Given the description of an element on the screen output the (x, y) to click on. 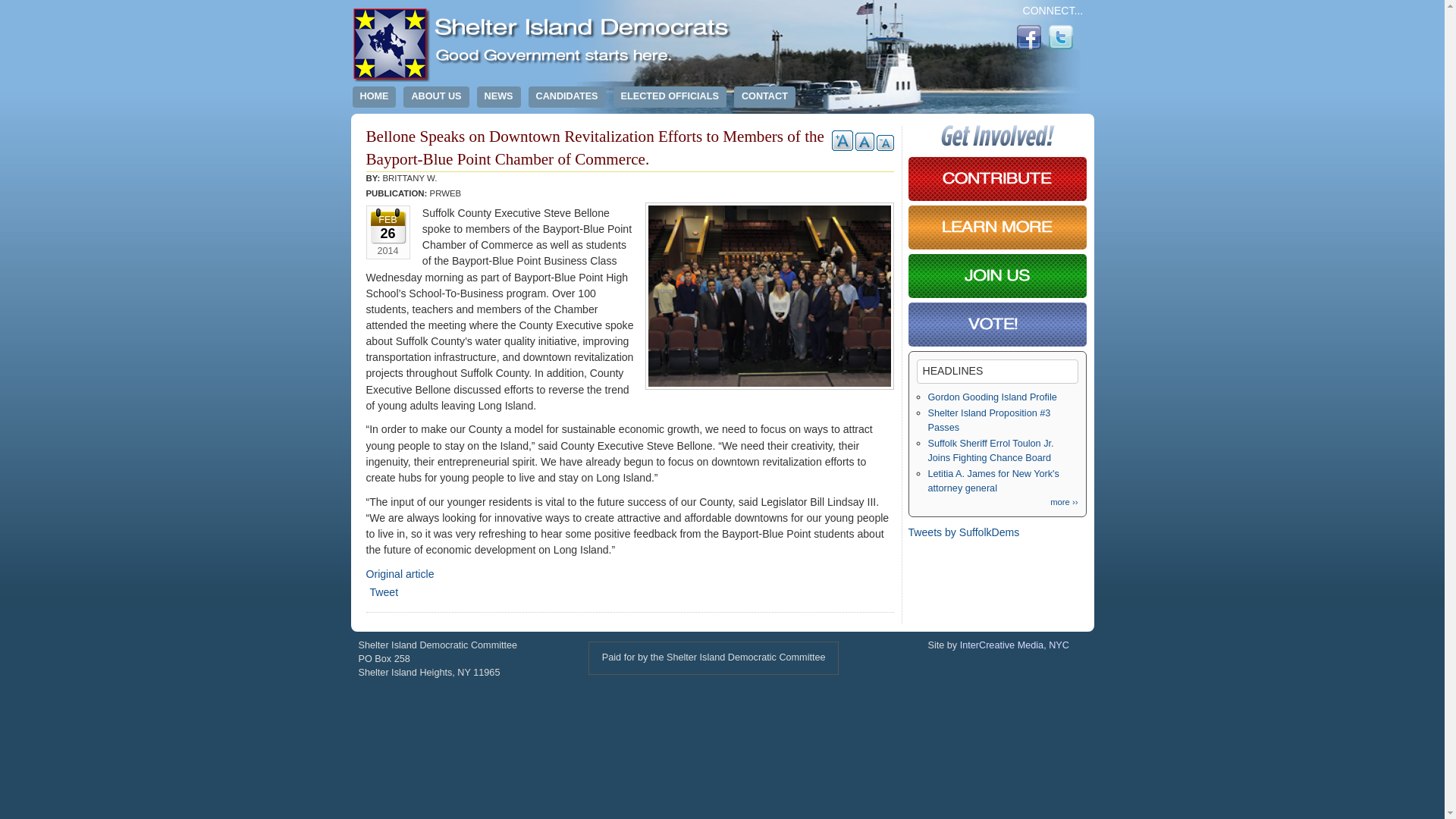
Home page (542, 78)
Letitia A. James for New York's attorney general (993, 480)
NEWS (499, 96)
A (842, 140)
ELECTED OFFICIALS (669, 96)
Tweets by SuffolkDems (964, 532)
Tweet (383, 592)
A (865, 141)
InterCreative Media, NYC (1013, 644)
HOME (374, 96)
Suffolk Sheriff Errol Toulon Jr. Joins Fighting Chance Board (991, 450)
Gordon Gooding Island Profile (992, 397)
CONTACT (763, 96)
Original article (399, 573)
